Given the description of an element on the screen output the (x, y) to click on. 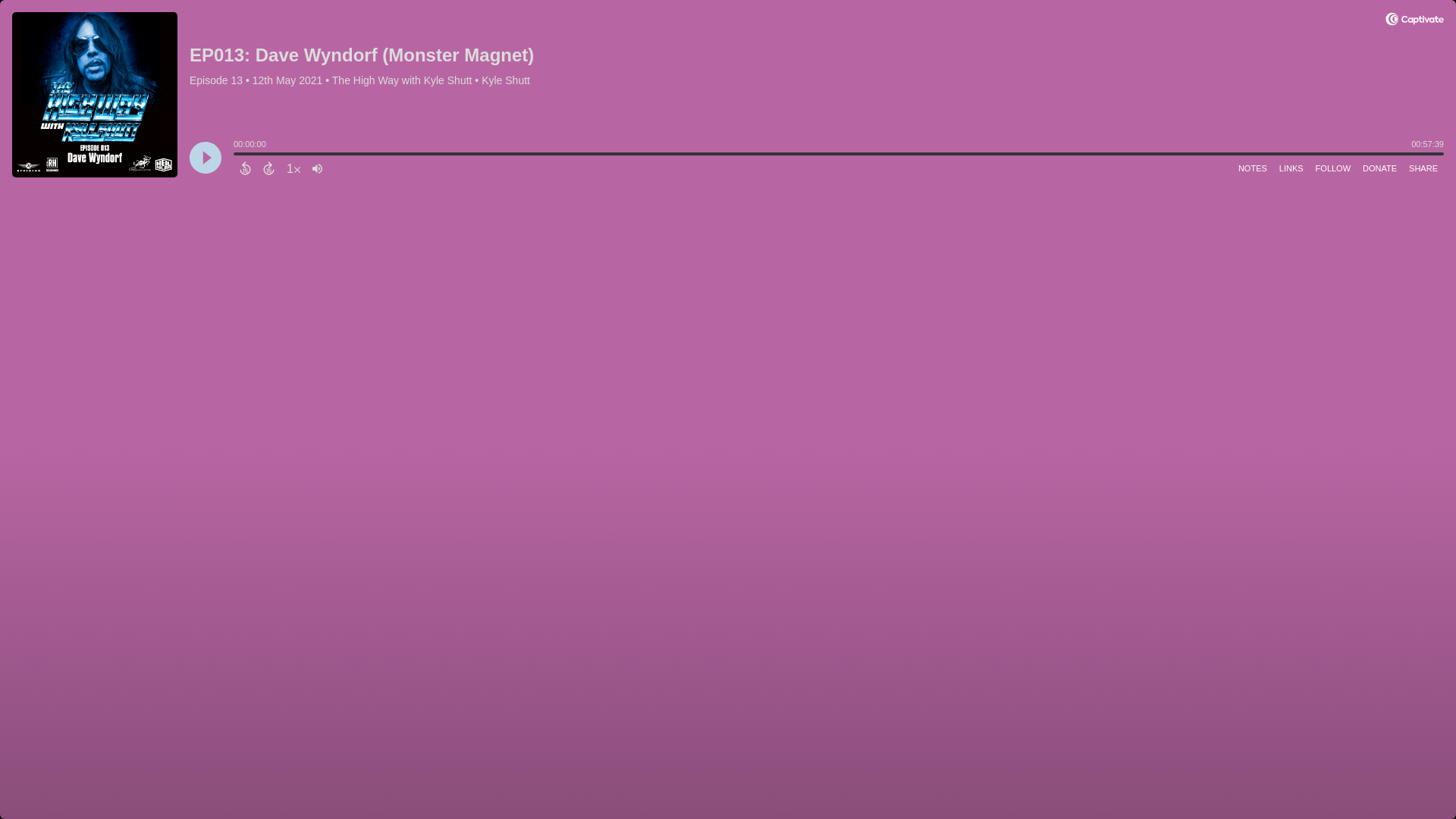
LINKS (1290, 167)
FOLLOW (1332, 167)
SHARE (1423, 167)
DONATE (1379, 167)
NOTES (1251, 167)
1 (293, 167)
